Given the description of an element on the screen output the (x, y) to click on. 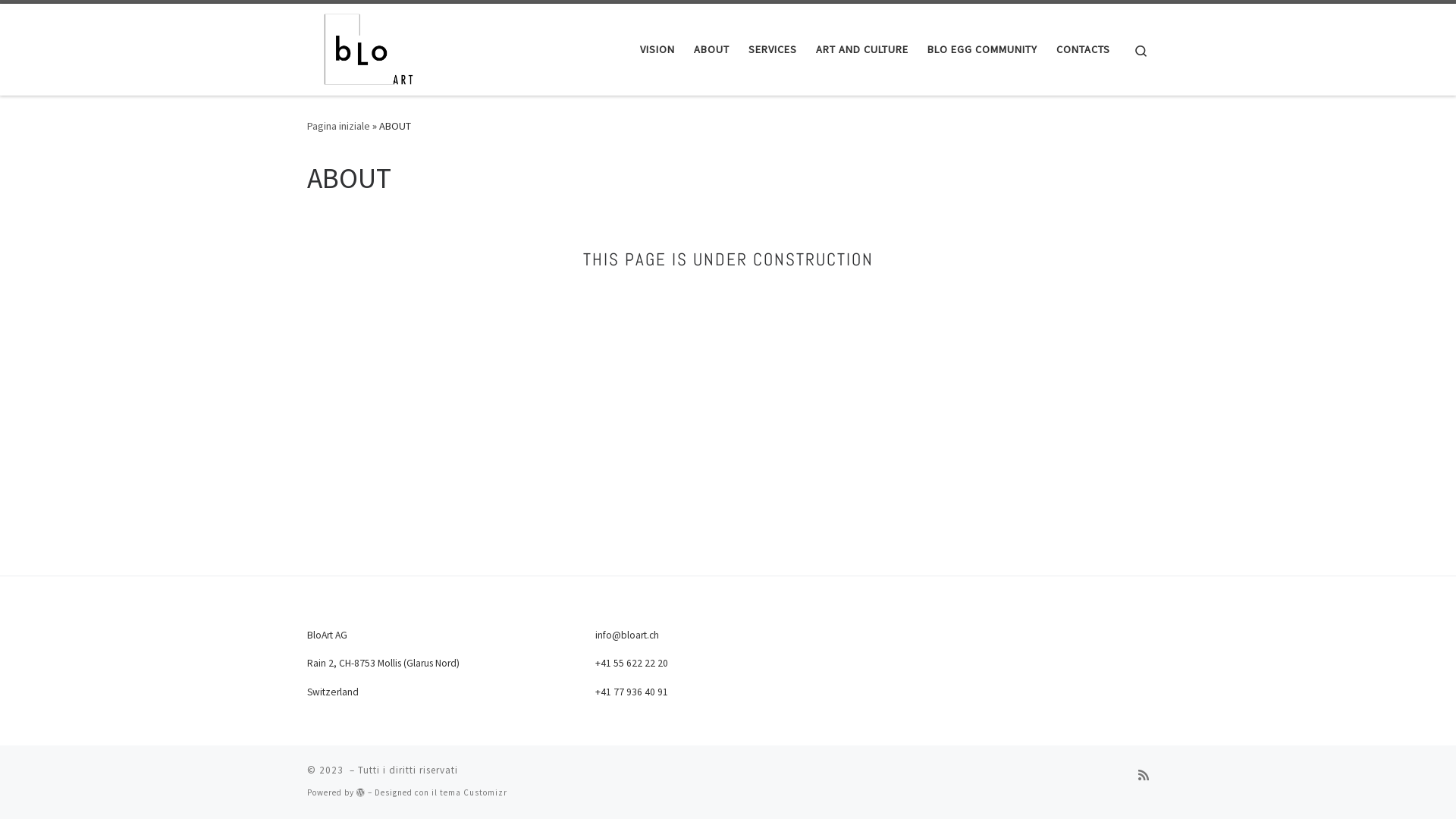
Iscriviti al feed RSS Element type: hover (1143, 774)
SERVICES Element type: text (772, 49)
BLO EGG COMMUNITY Element type: text (982, 49)
Skip to content Element type: text (57, 21)
ART AND CULTURE Element type: text (862, 49)
Search Element type: text (1140, 49)
CONTACTS Element type: text (1083, 49)
Pagina iniziale Element type: text (338, 125)
Powered by WordPress Element type: hover (360, 791)
VISION Element type: text (657, 49)
tema Customizr Element type: text (473, 792)
ABOUT Element type: text (711, 49)
